Given the description of an element on the screen output the (x, y) to click on. 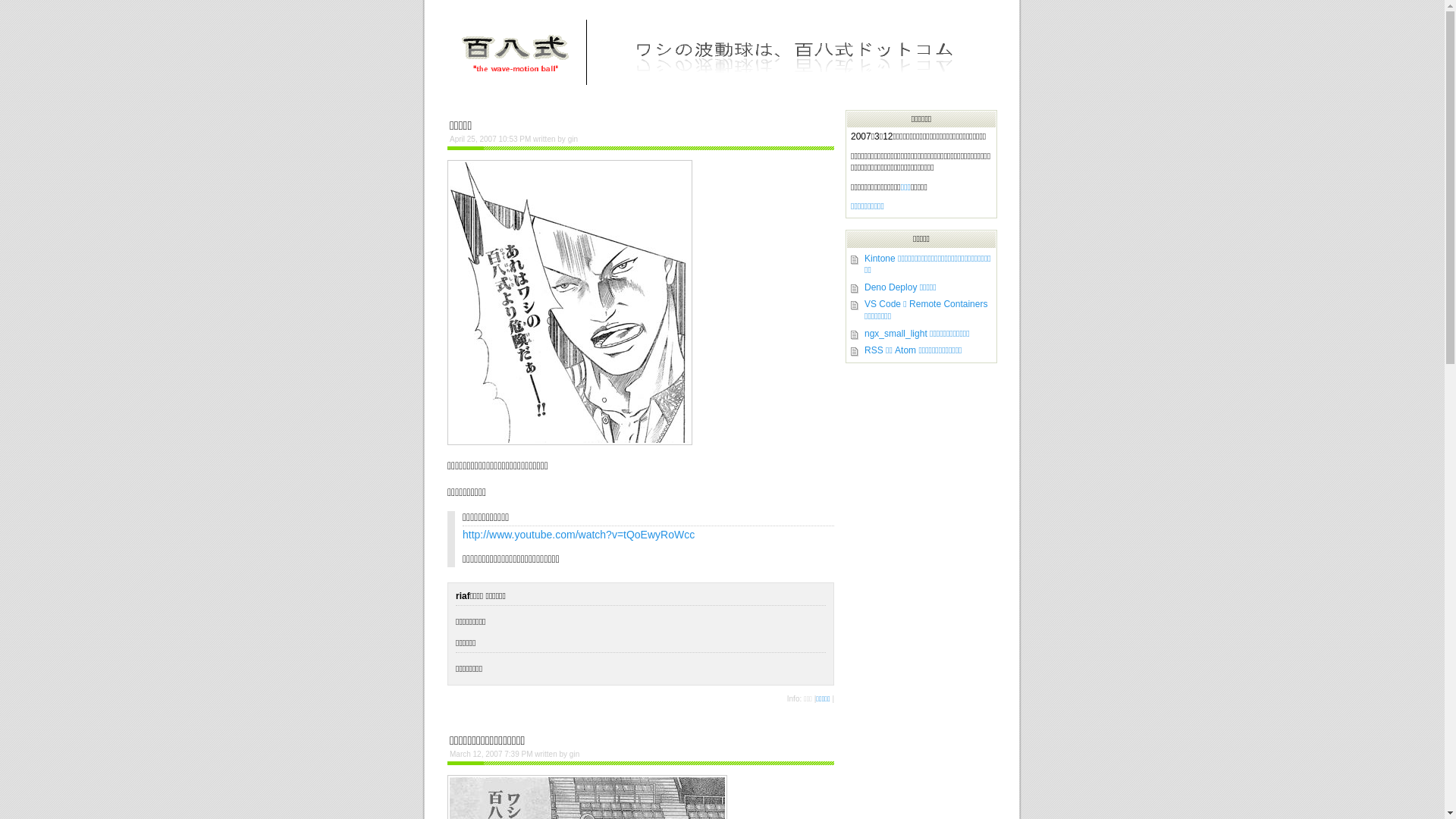
http://www.youtube.com/watch?v=tQoEwyRoWcc Element type: text (578, 534)
